Given the description of an element on the screen output the (x, y) to click on. 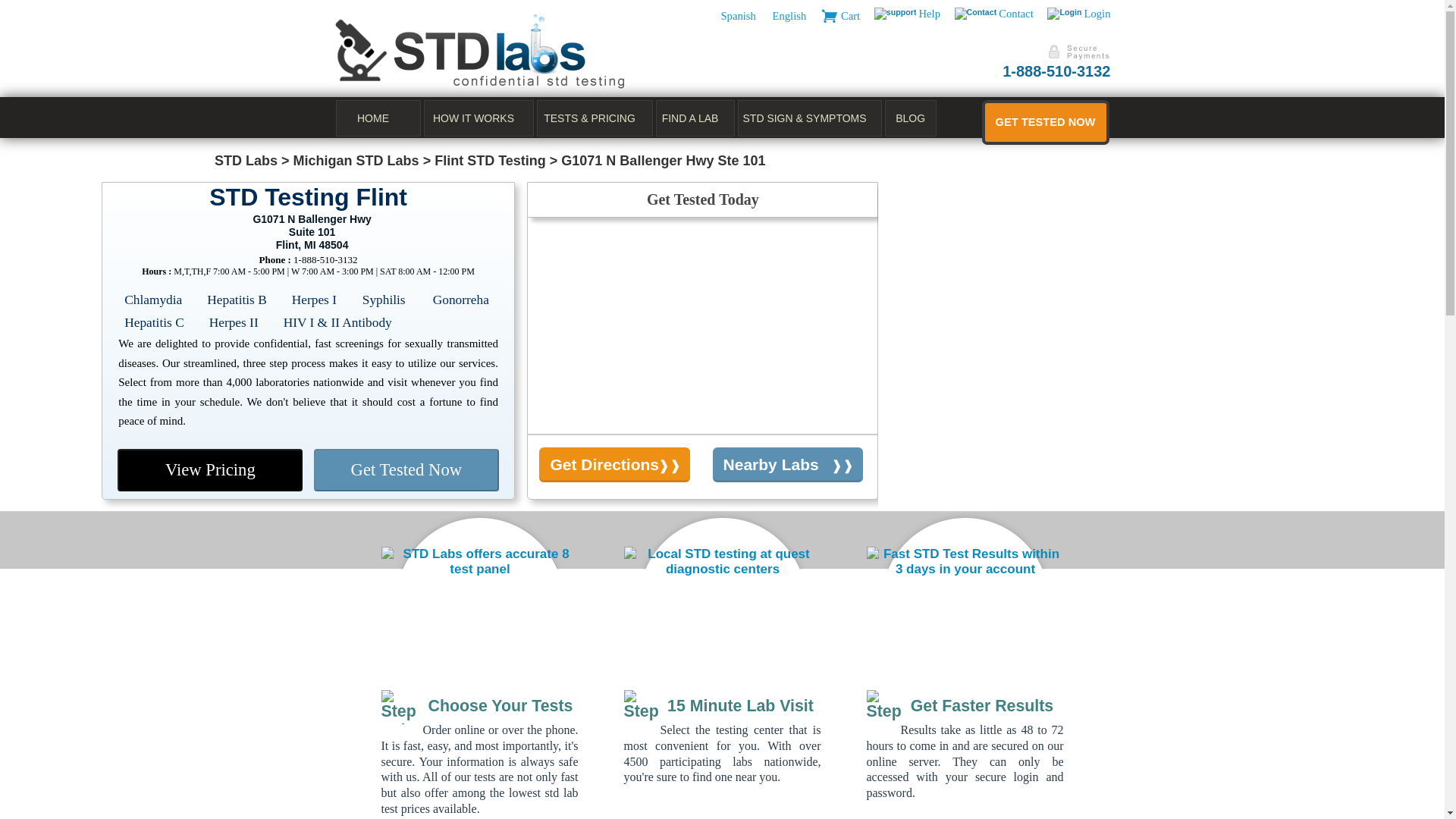
Select 8 Test panel for STD Testing (397, 706)
STD Labs offers accurate 8 test panel (479, 562)
STD Labs Logo (479, 51)
Local STD testing at quest diagnostic centers (722, 562)
Get STD Test Results as faster in three business days (882, 706)
Fast STD Test Results within 3 days in your account (965, 562)
Online Secure Payment (1077, 51)
View Cart (829, 15)
My Account (1063, 13)
support contact us (976, 13)
